Given the description of an element on the screen output the (x, y) to click on. 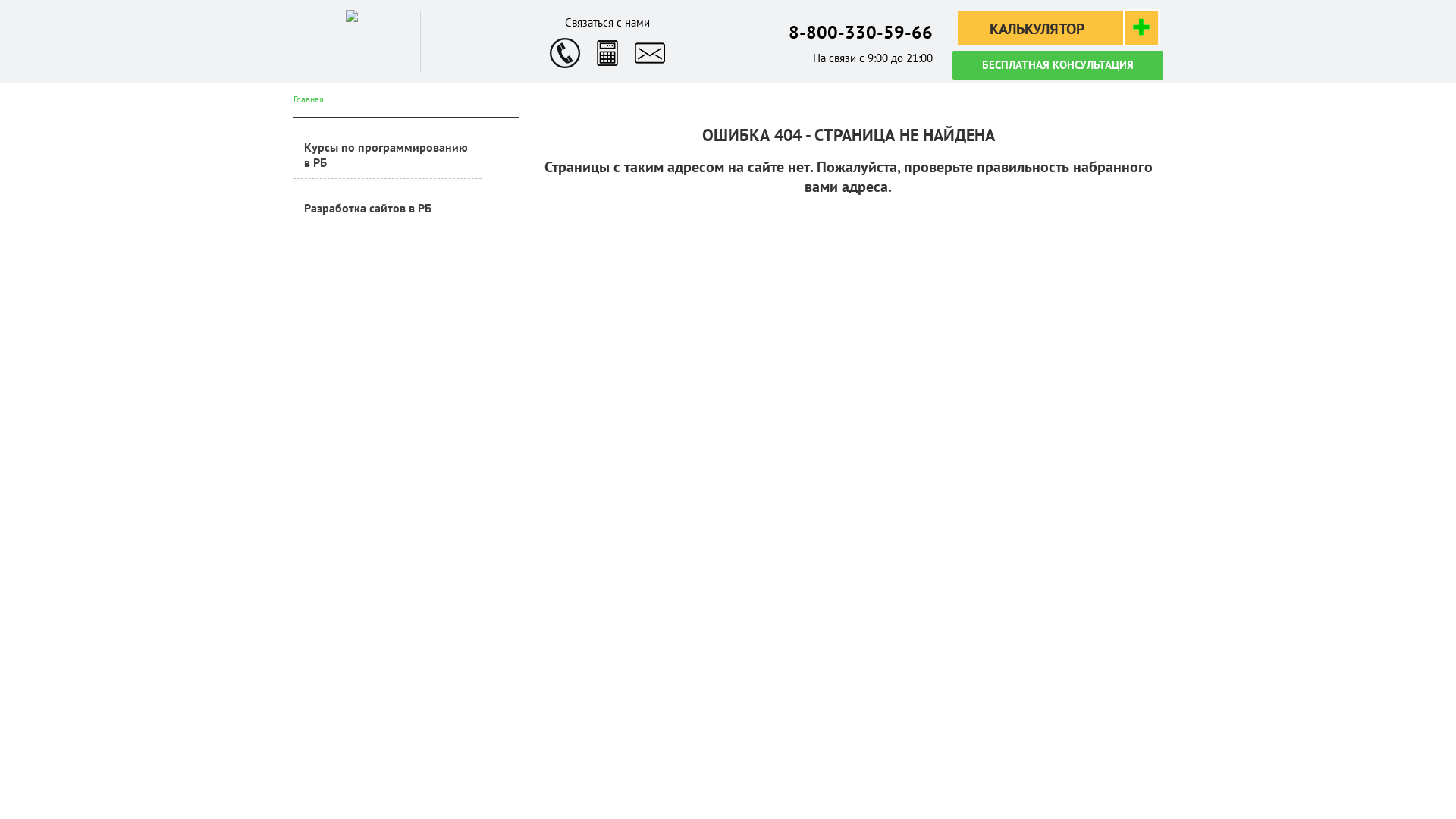
8-800-330-59-66 Element type: text (860, 31)
